Given the description of an element on the screen output the (x, y) to click on. 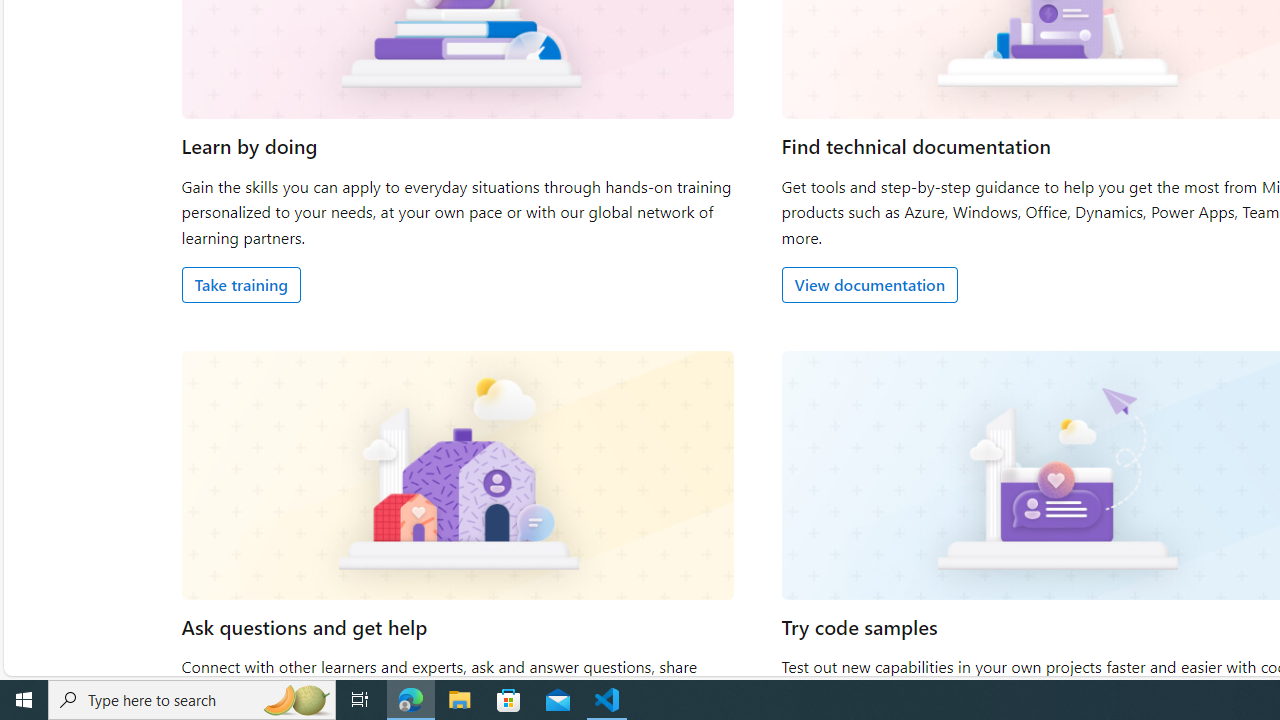
View documentation (868, 284)
Take training (240, 284)
